Given the description of an element on the screen output the (x, y) to click on. 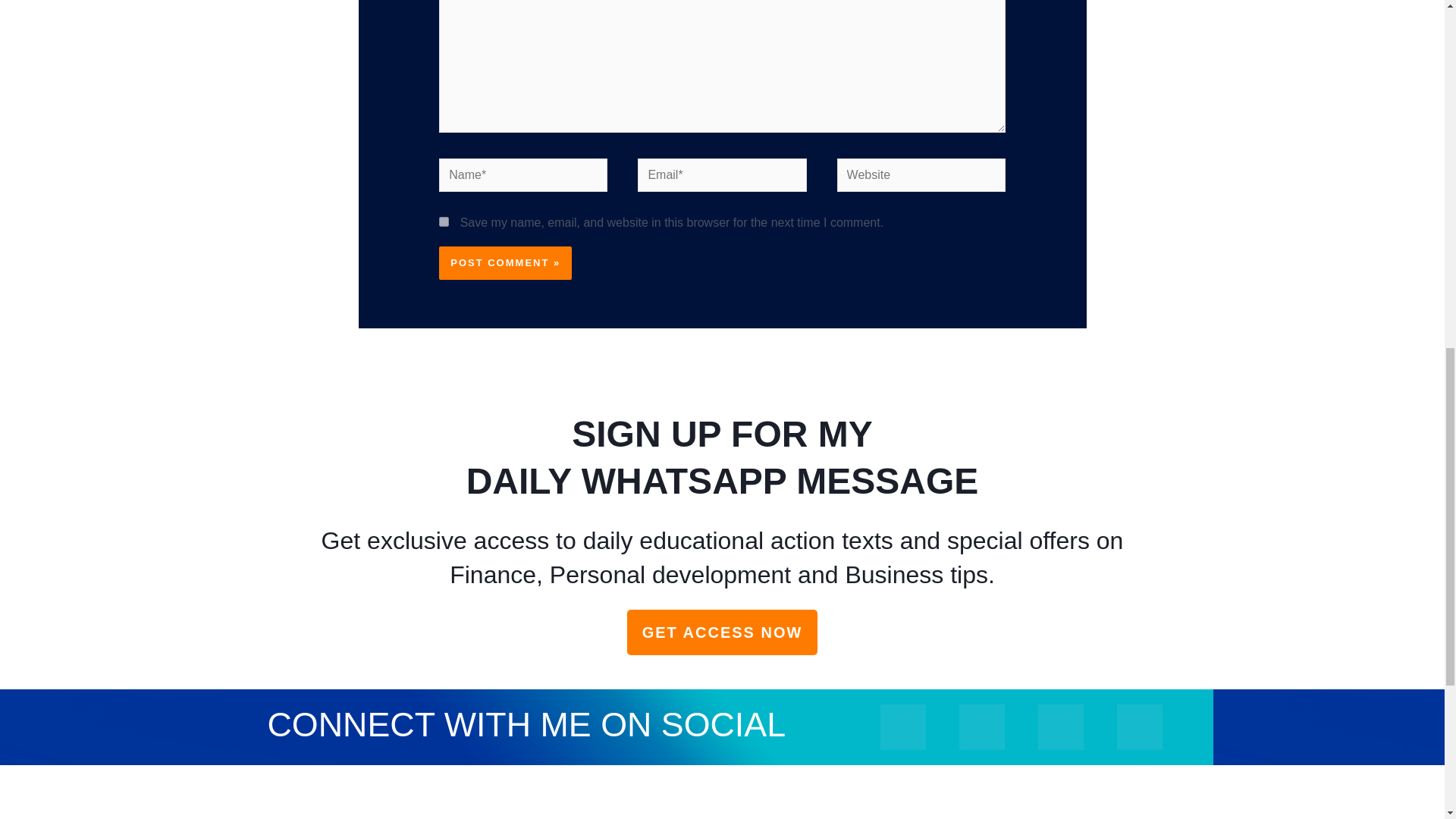
GET ACCESS NOW (722, 632)
yes (443, 221)
